Given the description of an element on the screen output the (x, y) to click on. 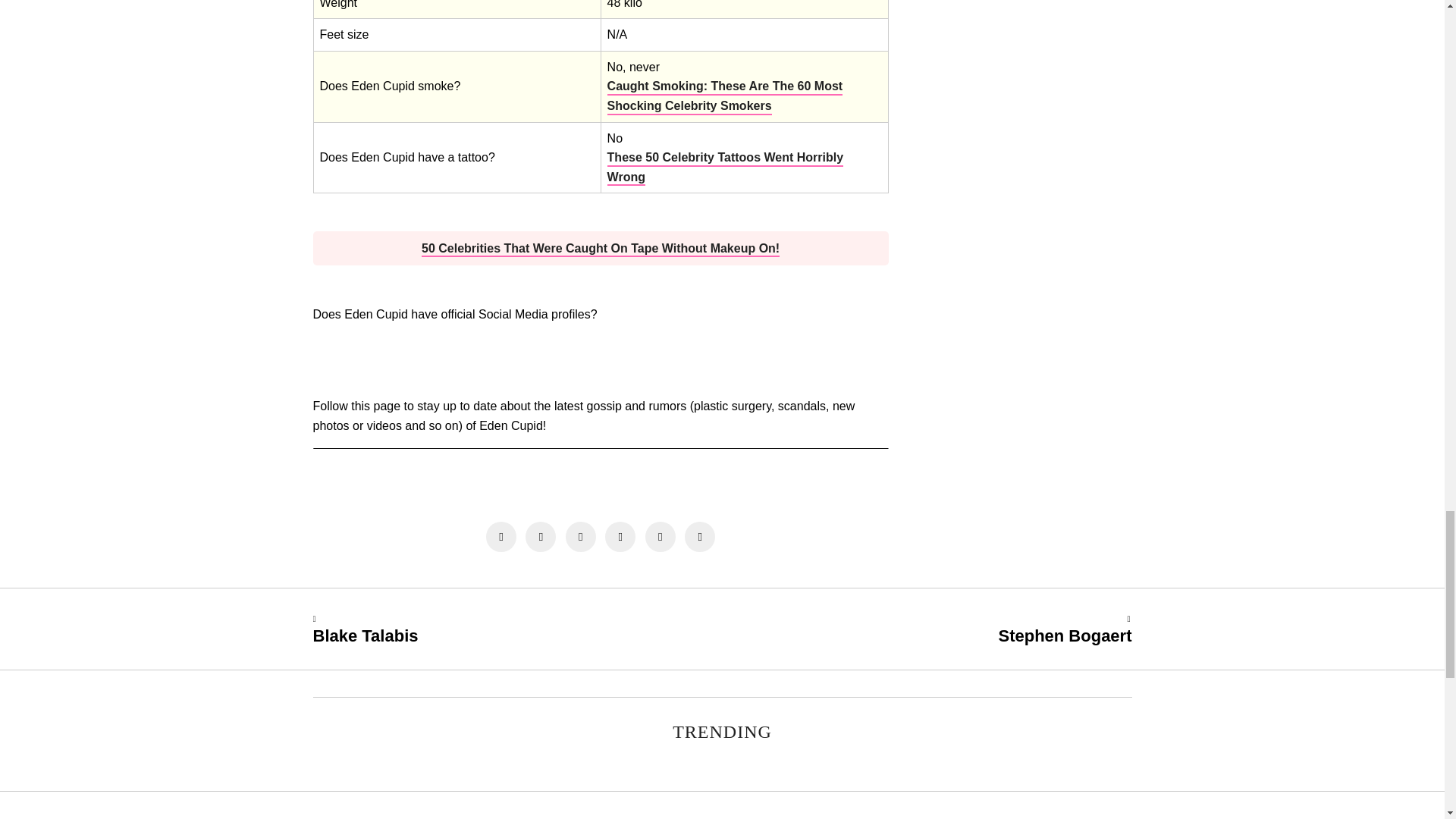
Email (699, 536)
50 Celebrities That Were Caught On Tape Without Makeup On! (600, 249)
Facebook (501, 536)
Messenger (540, 536)
Whatsapp (660, 536)
Pinterest (619, 536)
These 50 Celebrity Tattoos Went Horribly Wrong (725, 167)
Twitter (580, 536)
